Given the description of an element on the screen output the (x, y) to click on. 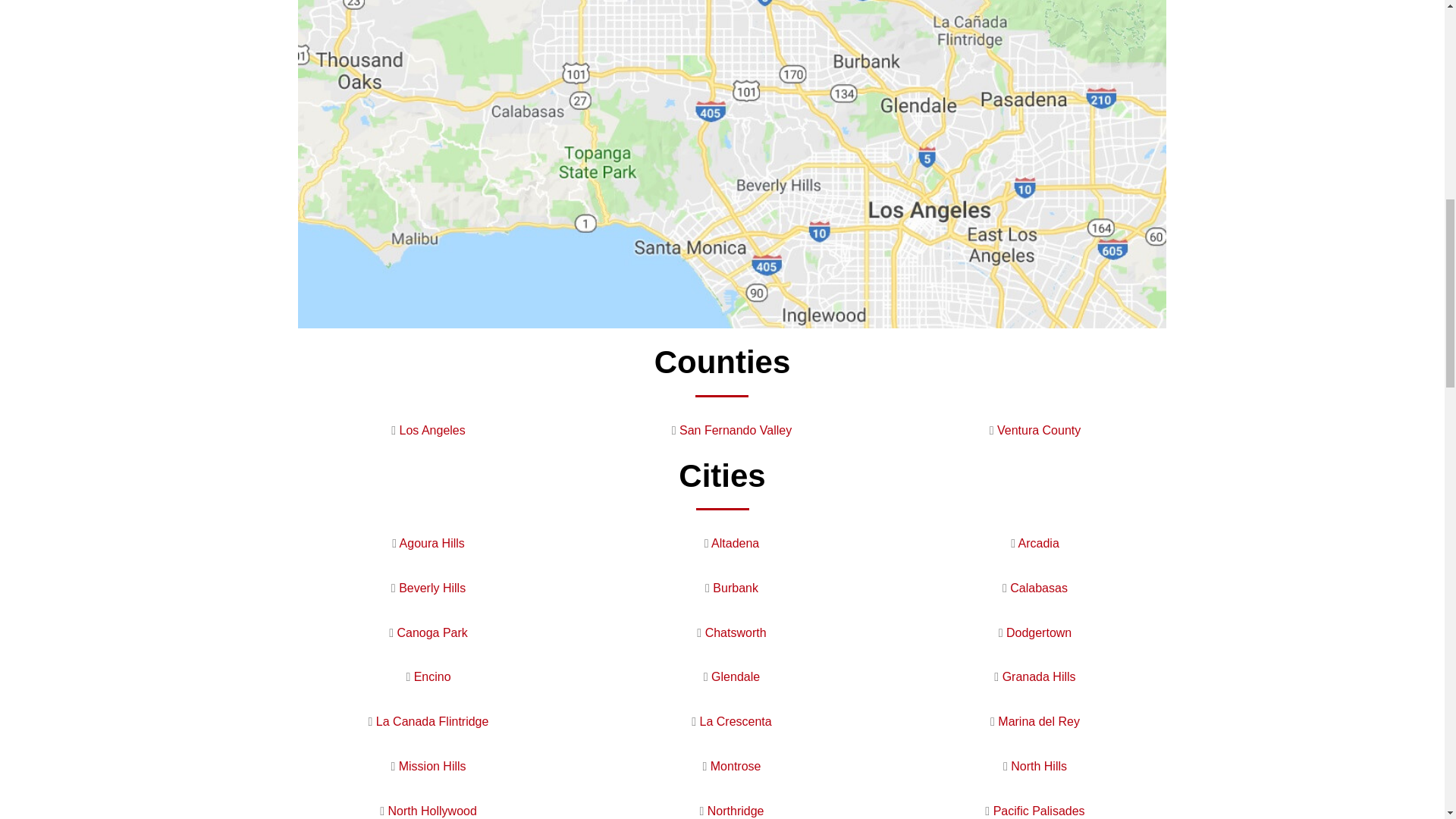
Burbank Local Pavers Contractor (735, 587)
Los Angeles Local Pavers Contractor (431, 430)
Encino Local Pavers Contractor (432, 676)
Arcadia Local Pavers Contractor (1038, 543)
Dodgertown Local Pavers Contractor (1038, 632)
Calabasas Local Pavers Contractor (1038, 587)
Granada Hills Local Pavers Contractor (1039, 676)
San Fernando Valley Local Pavers Contractor (735, 430)
Altadena Local Pavers Contractor (734, 543)
Canoga Park Local Pavers Contractor (431, 632)
